Given the description of an element on the screen output the (x, y) to click on. 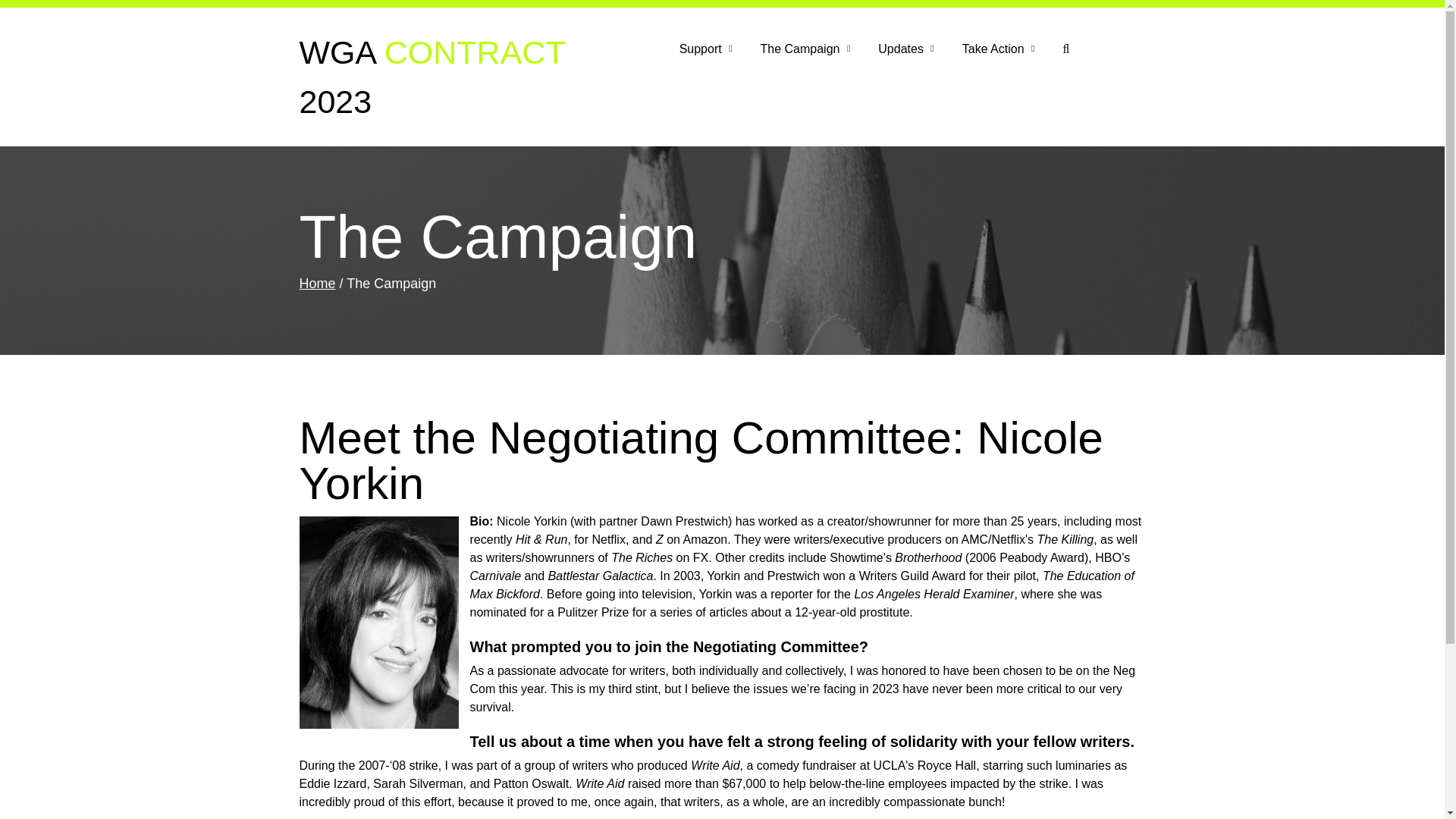
Support (705, 49)
Updates (905, 49)
Home (316, 283)
Take Action (998, 49)
WGA CONTRACT 2023 (433, 76)
The Campaign (805, 49)
